Given the description of an element on the screen output the (x, y) to click on. 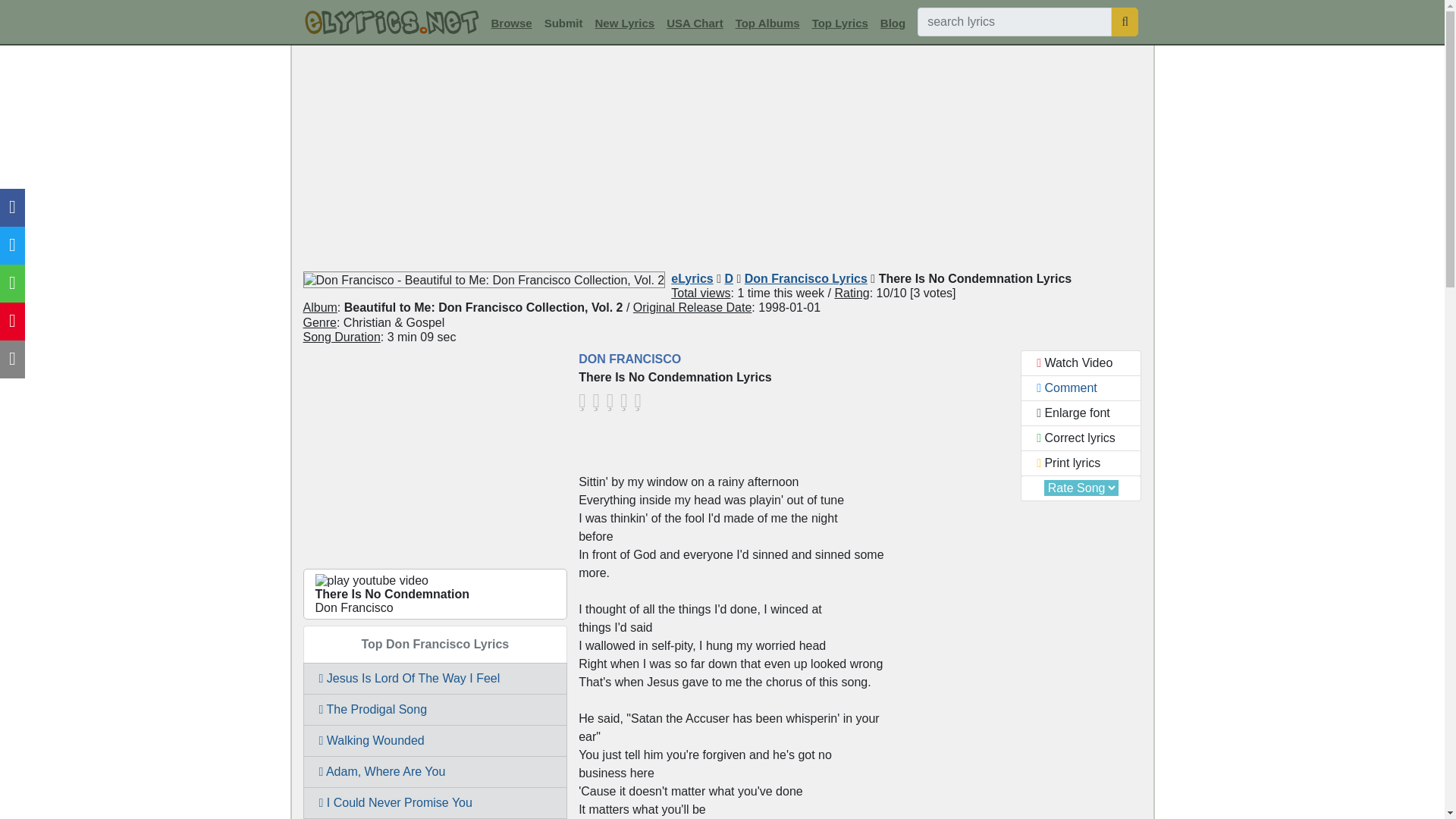
Very Good (626, 400)
Top Don Francisco Lyrics (434, 644)
Adam, Where Are You (434, 771)
Song Lyrics (391, 22)
Blog (893, 23)
D (728, 278)
Jesus Is Lord Of The Way I Feel (434, 678)
Top Lyrics (840, 23)
I Could Never Promise You (434, 803)
Submit (563, 23)
Out of this world (640, 400)
Browse (511, 23)
Top Albums (767, 23)
New Lyrics (625, 23)
